Given the description of an element on the screen output the (x, y) to click on. 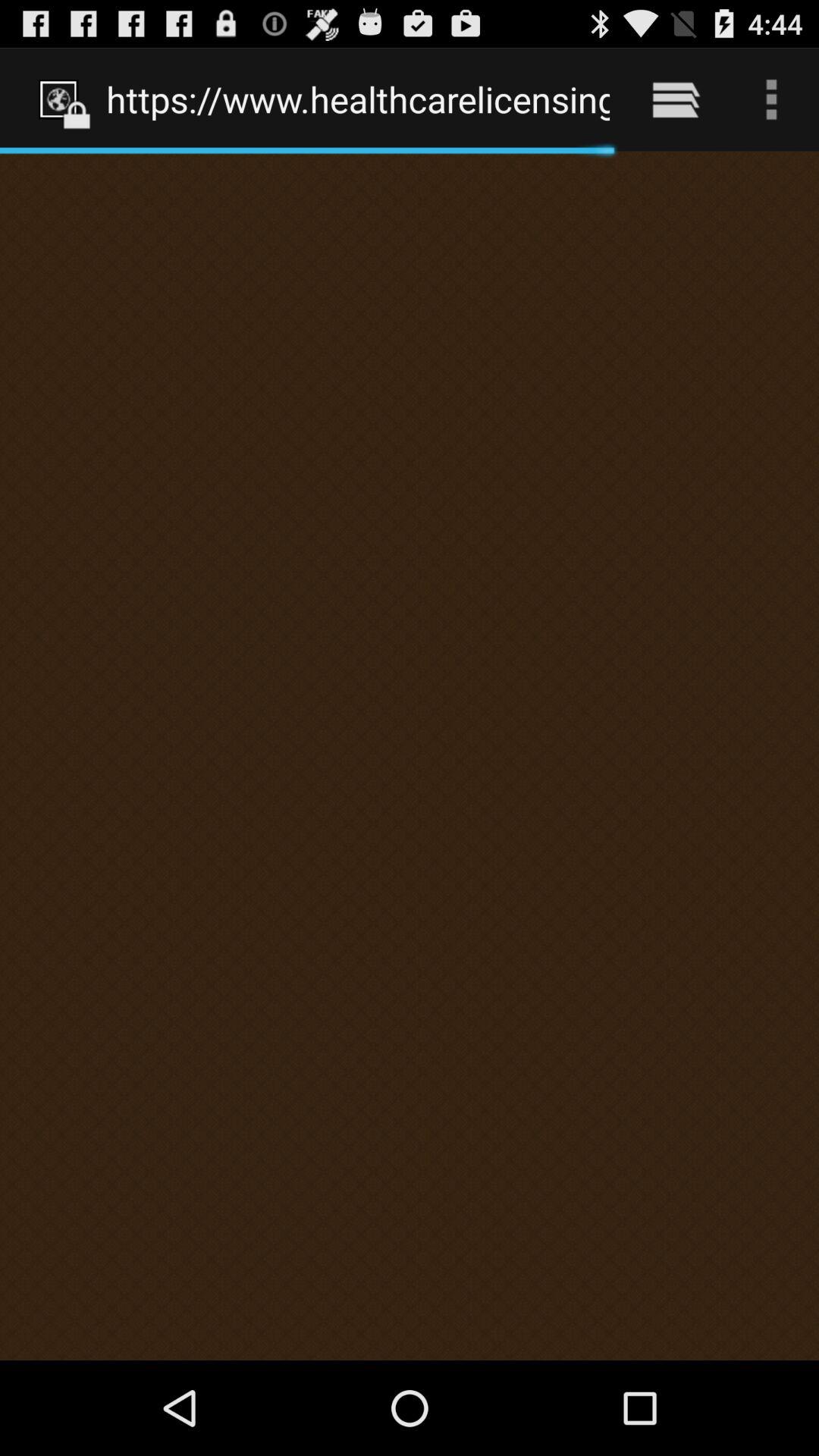
flip to https www healthcarelicensing item (357, 99)
